Given the description of an element on the screen output the (x, y) to click on. 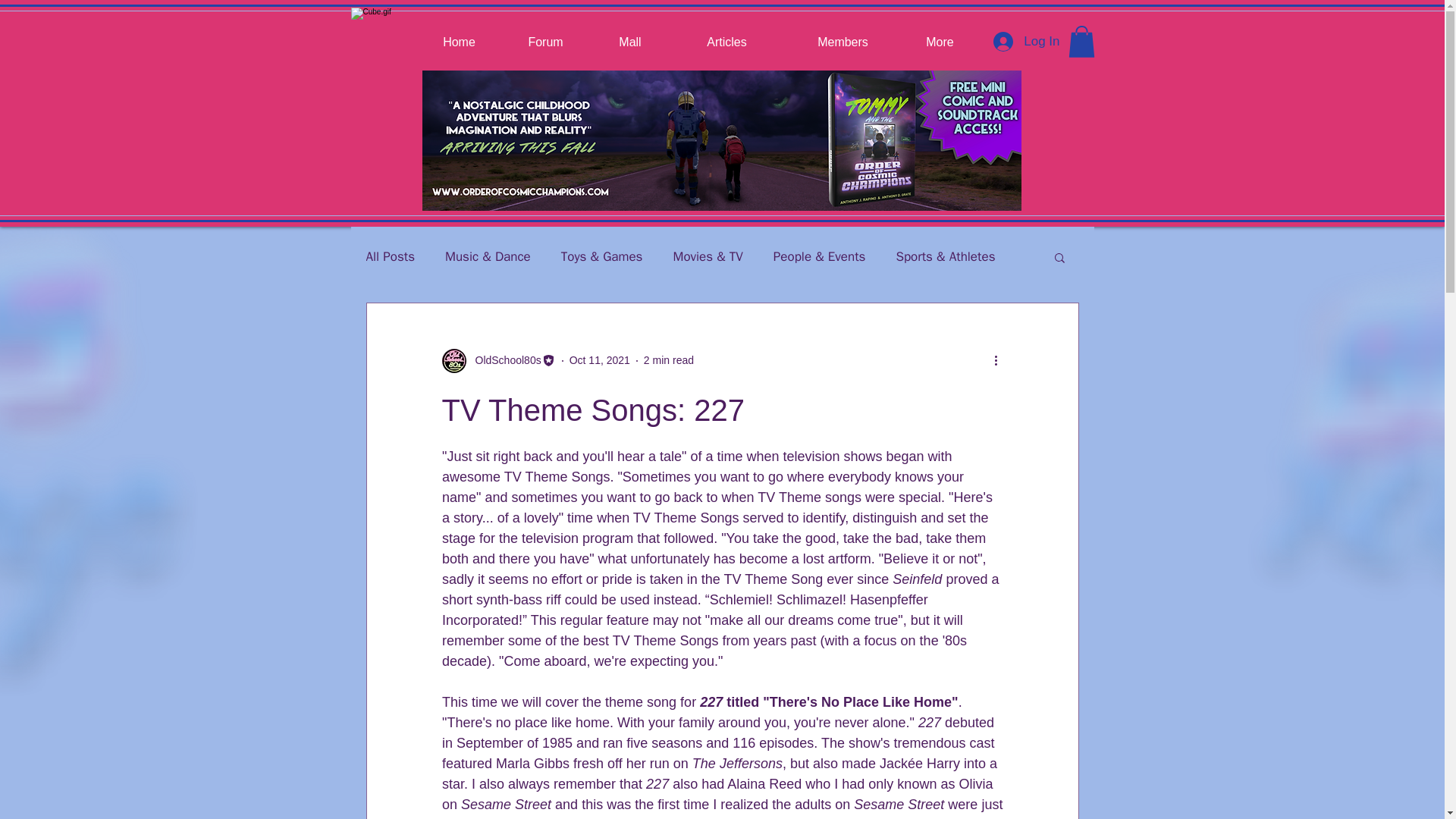
Articles (727, 35)
Members (843, 35)
2 min read (668, 359)
Forum (545, 35)
Home (459, 35)
All Posts (389, 256)
Log In (1026, 41)
OldSchool80s (502, 360)
OldSchool80s (497, 360)
Oct 11, 2021 (599, 359)
